Given the description of an element on the screen output the (x, y) to click on. 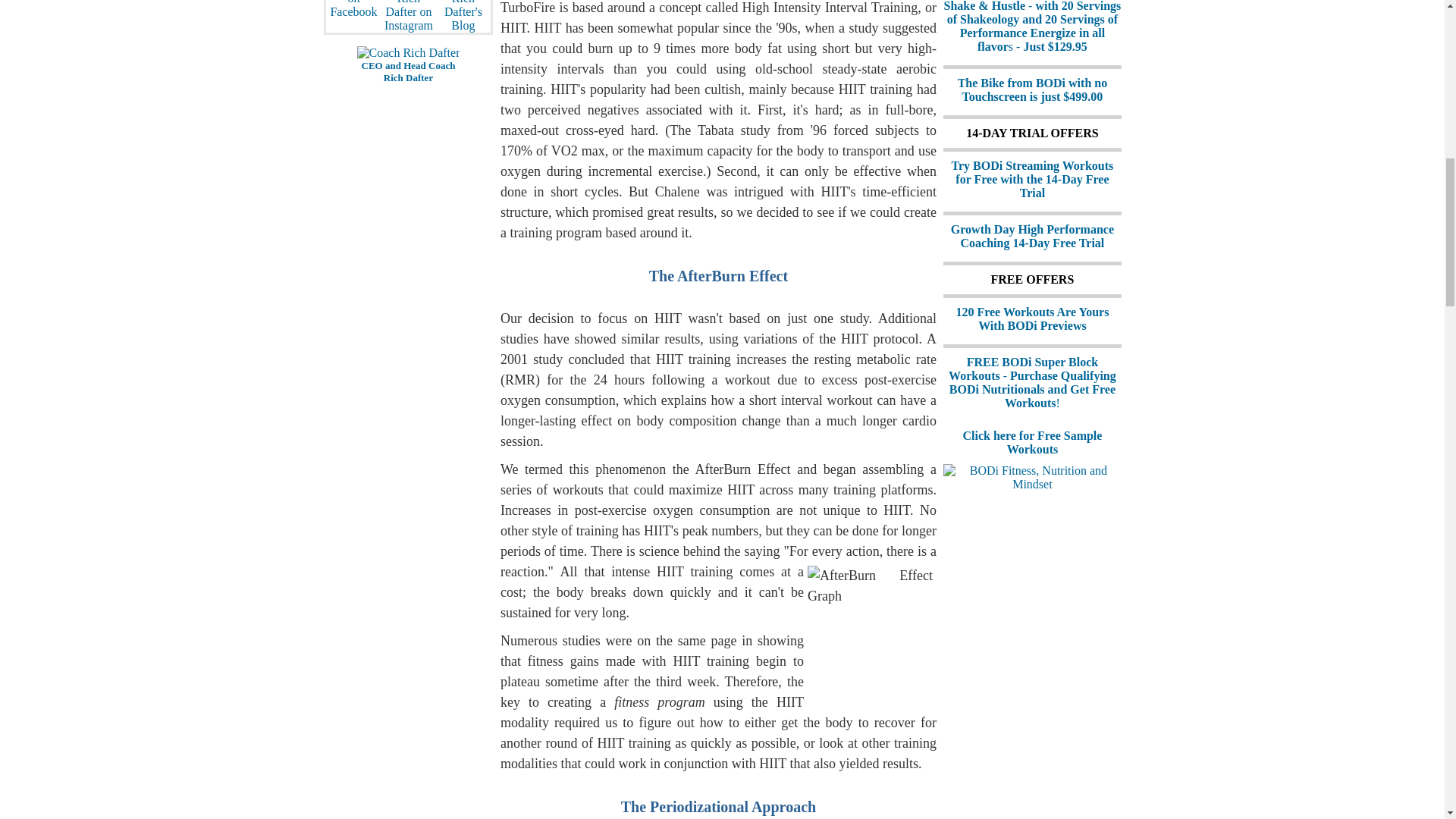
120 Free Workouts Are Yours With BODi Previews (1031, 318)
Click here for Free Sample Workouts (1032, 442)
Growth Day High Performance Coaching 14-Day Free Trial (1031, 235)
